Given the description of an element on the screen output the (x, y) to click on. 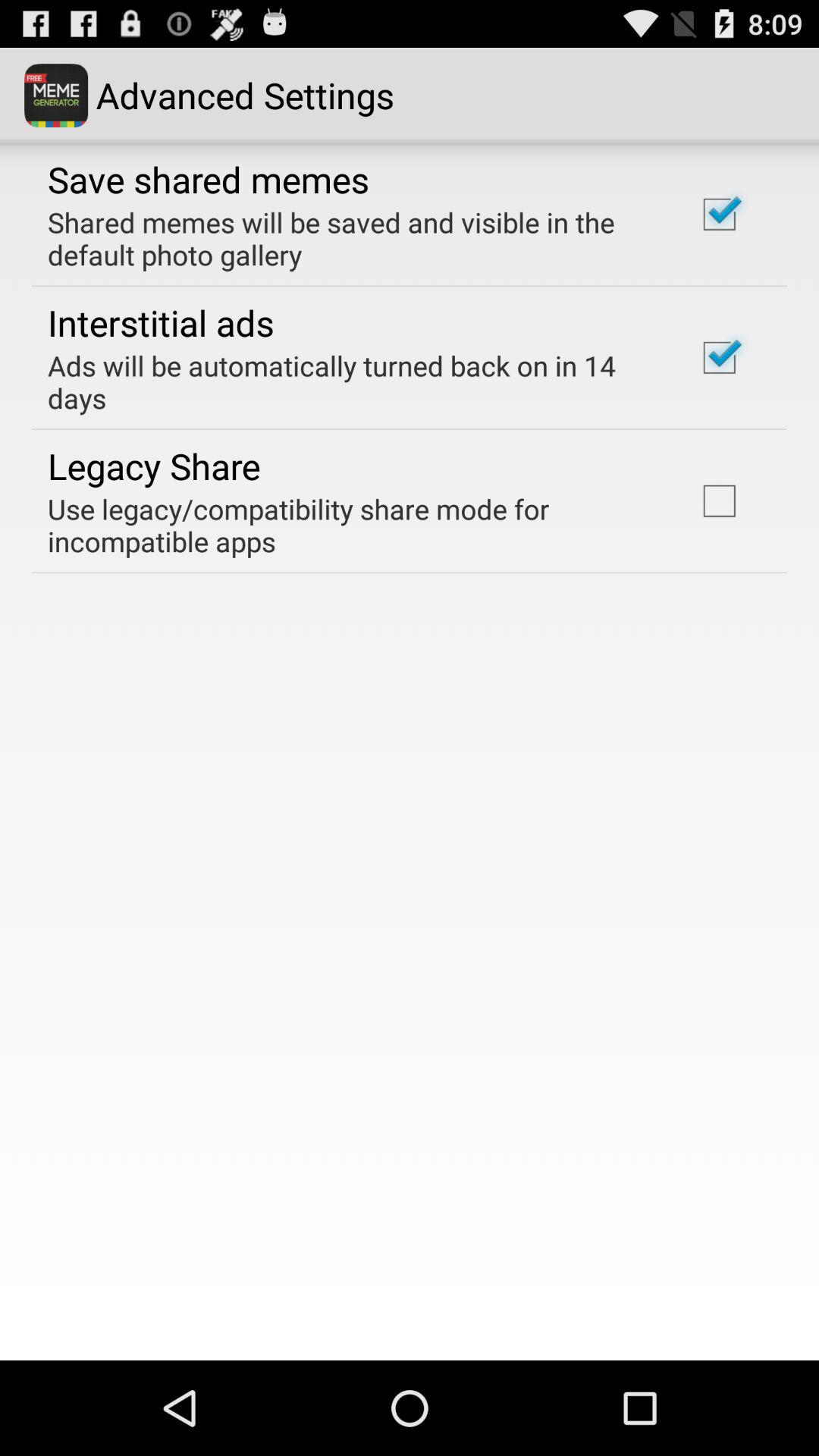
open use legacy compatibility icon (351, 525)
